Given the description of an element on the screen output the (x, y) to click on. 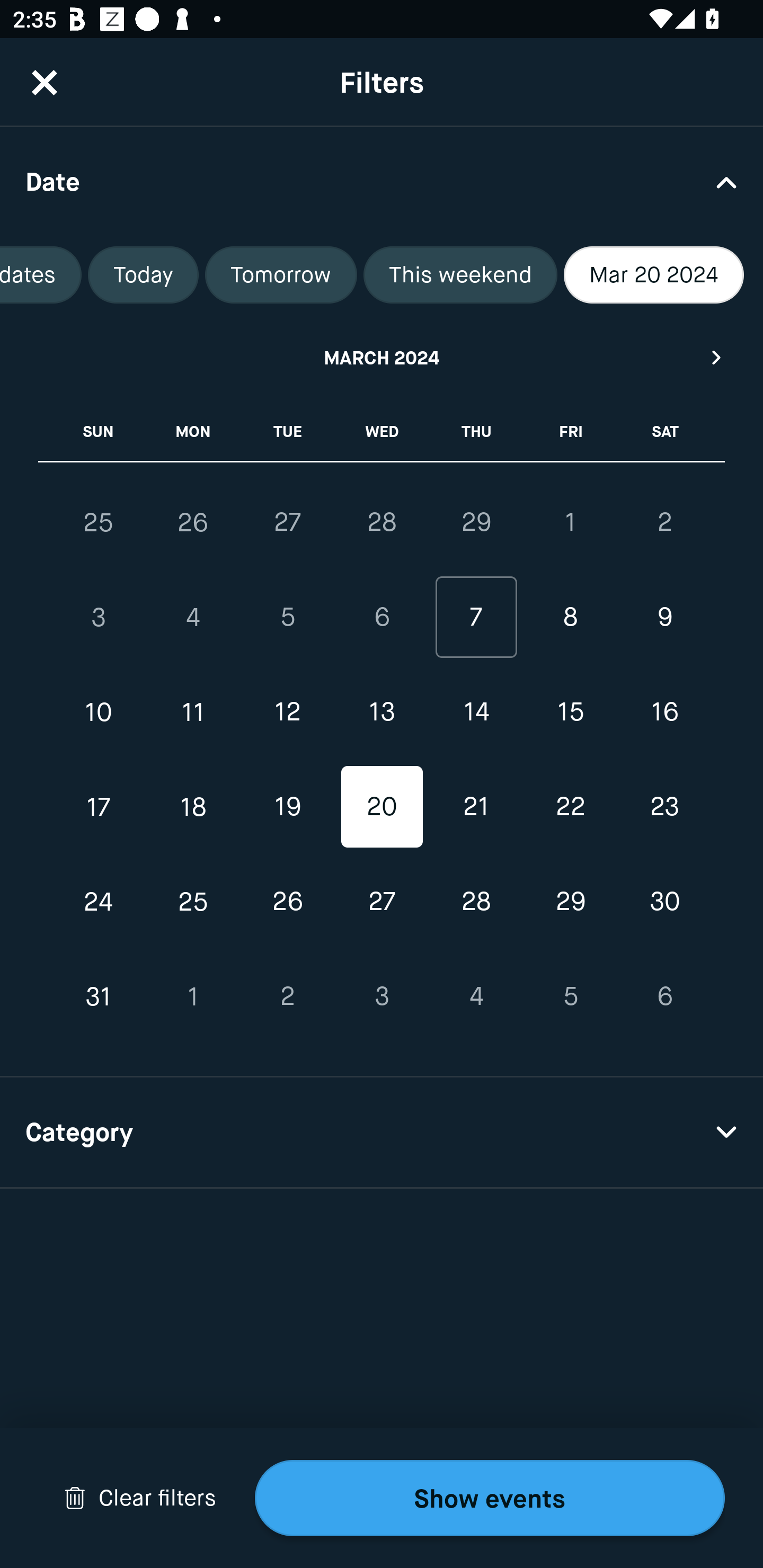
CloseButton (44, 82)
Date Drop Down Arrow (381, 181)
Today (142, 274)
Tomorrow (281, 274)
This weekend (460, 274)
Mar 20 2024 (653, 274)
Next (717, 357)
25 (98, 522)
26 (192, 522)
27 (287, 522)
28 (381, 522)
29 (475, 522)
1 (570, 522)
2 (664, 522)
3 (98, 617)
4 (192, 617)
5 (287, 617)
6 (381, 617)
7 (475, 617)
8 (570, 617)
9 (664, 617)
10 (98, 711)
11 (192, 711)
12 (287, 711)
13 (381, 711)
14 (475, 711)
15 (570, 711)
16 (664, 711)
17 (98, 806)
18 (192, 806)
19 (287, 806)
20 (381, 806)
21 (475, 806)
22 (570, 806)
23 (664, 806)
24 (98, 901)
25 (192, 901)
26 (287, 901)
27 (381, 901)
28 (475, 901)
29 (570, 901)
30 (664, 901)
31 (98, 996)
1 (192, 996)
2 (287, 996)
3 (381, 996)
4 (475, 996)
5 (570, 996)
6 (664, 996)
Category Drop Down Arrow (381, 1132)
Drop Down Arrow Clear filters (139, 1497)
Show events (489, 1497)
